Given the description of an element on the screen output the (x, y) to click on. 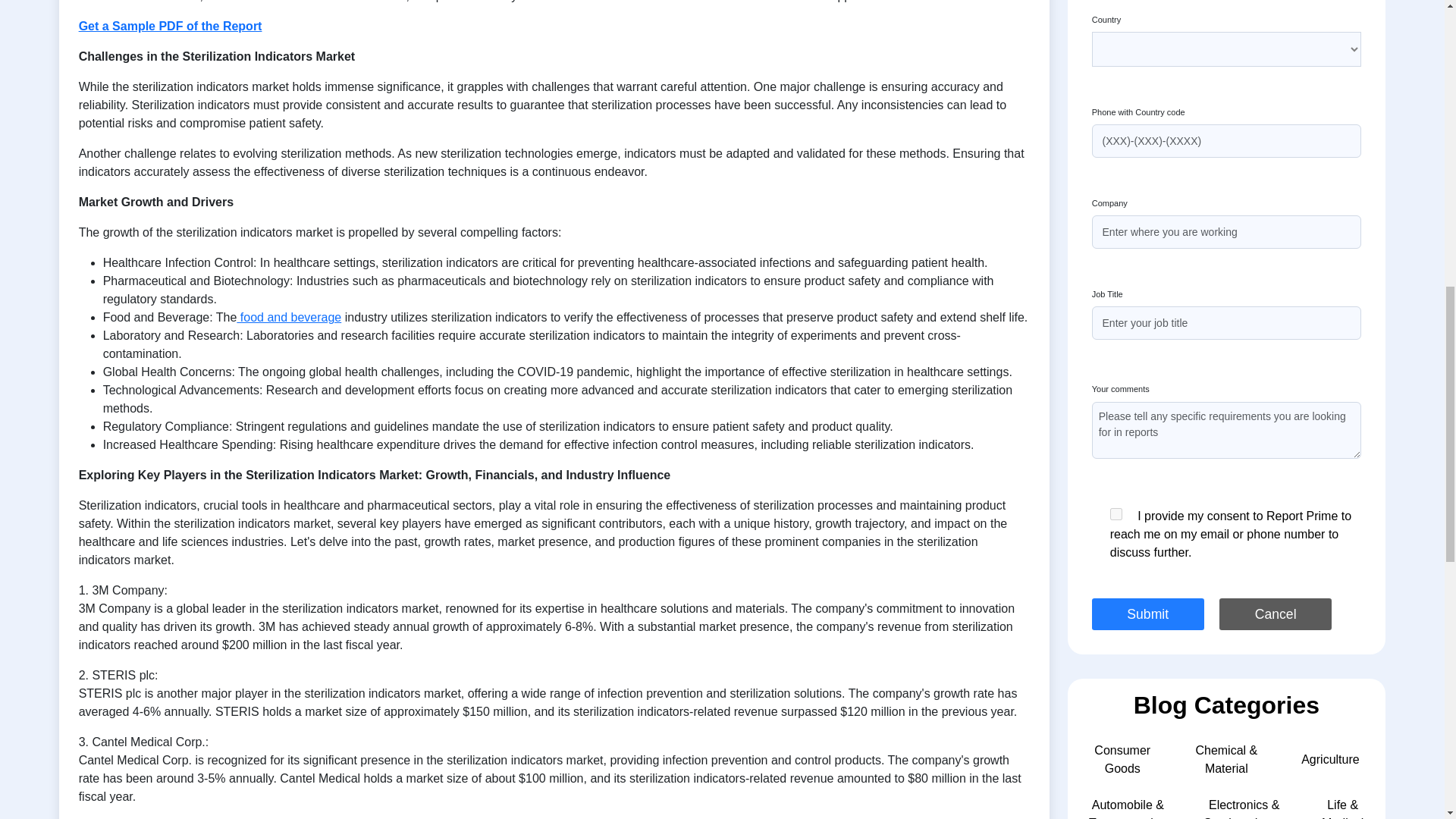
Consumer Goods (1122, 758)
Get a Sample PDF of the Report (170, 25)
food and beverage (287, 317)
Submit (1148, 613)
Agriculture (1329, 758)
Cancel (1276, 613)
